Given the description of an element on the screen output the (x, y) to click on. 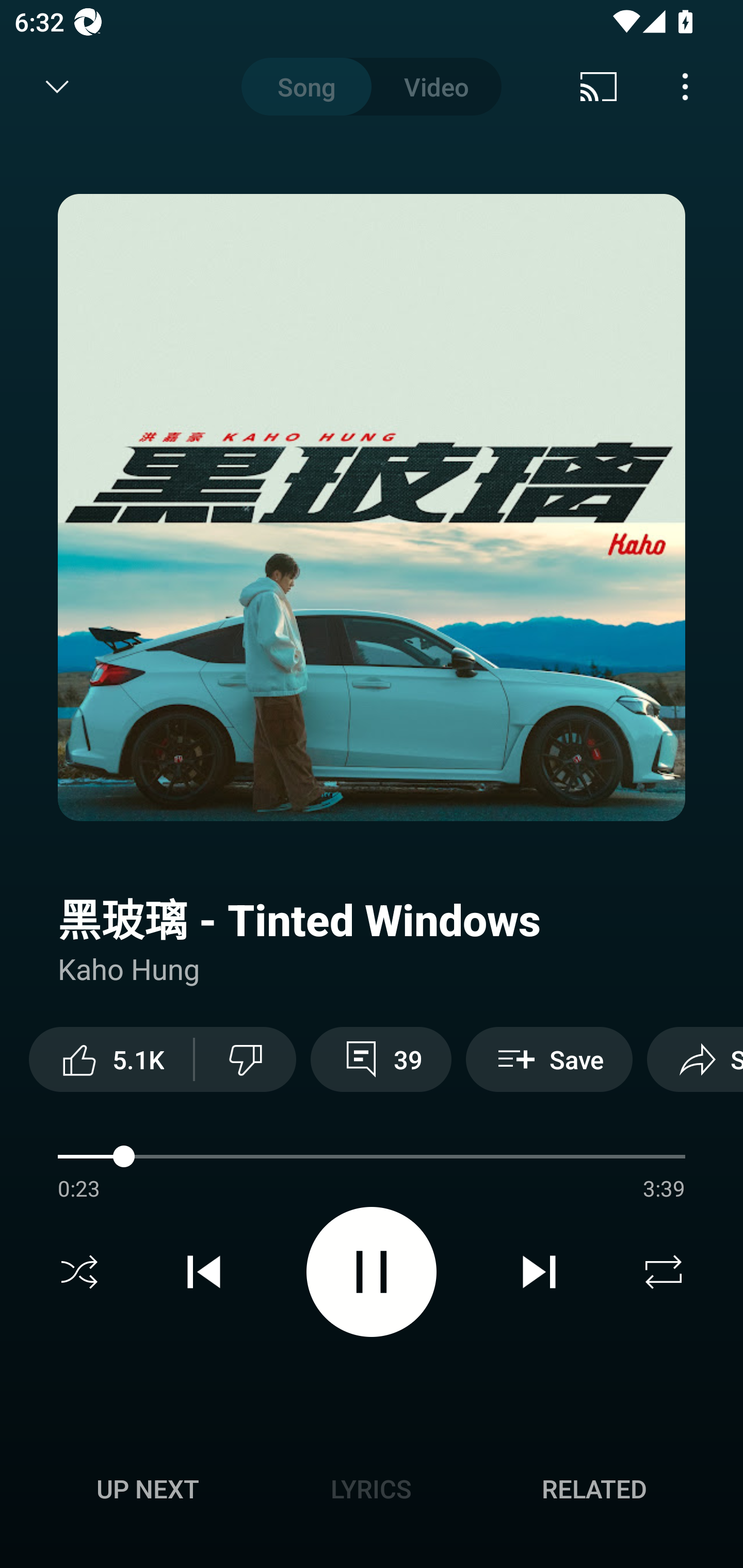
Minimize (57, 86)
Cast. Disconnected (598, 86)
Menu (684, 86)
5.1K like this video along with 5,122 other people (110, 1059)
Dislike (245, 1059)
39 View 39 comments (380, 1059)
Save Save to playlist (548, 1059)
Share (695, 1059)
Pause video (371, 1272)
Shuffle off (79, 1272)
Previous track (203, 1272)
Next track (538, 1272)
Repeat off (663, 1272)
Up next UP NEXT Lyrics LYRICS Related RELATED (371, 1491)
Lyrics LYRICS (370, 1488)
Related RELATED (594, 1488)
